Given the description of an element on the screen output the (x, y) to click on. 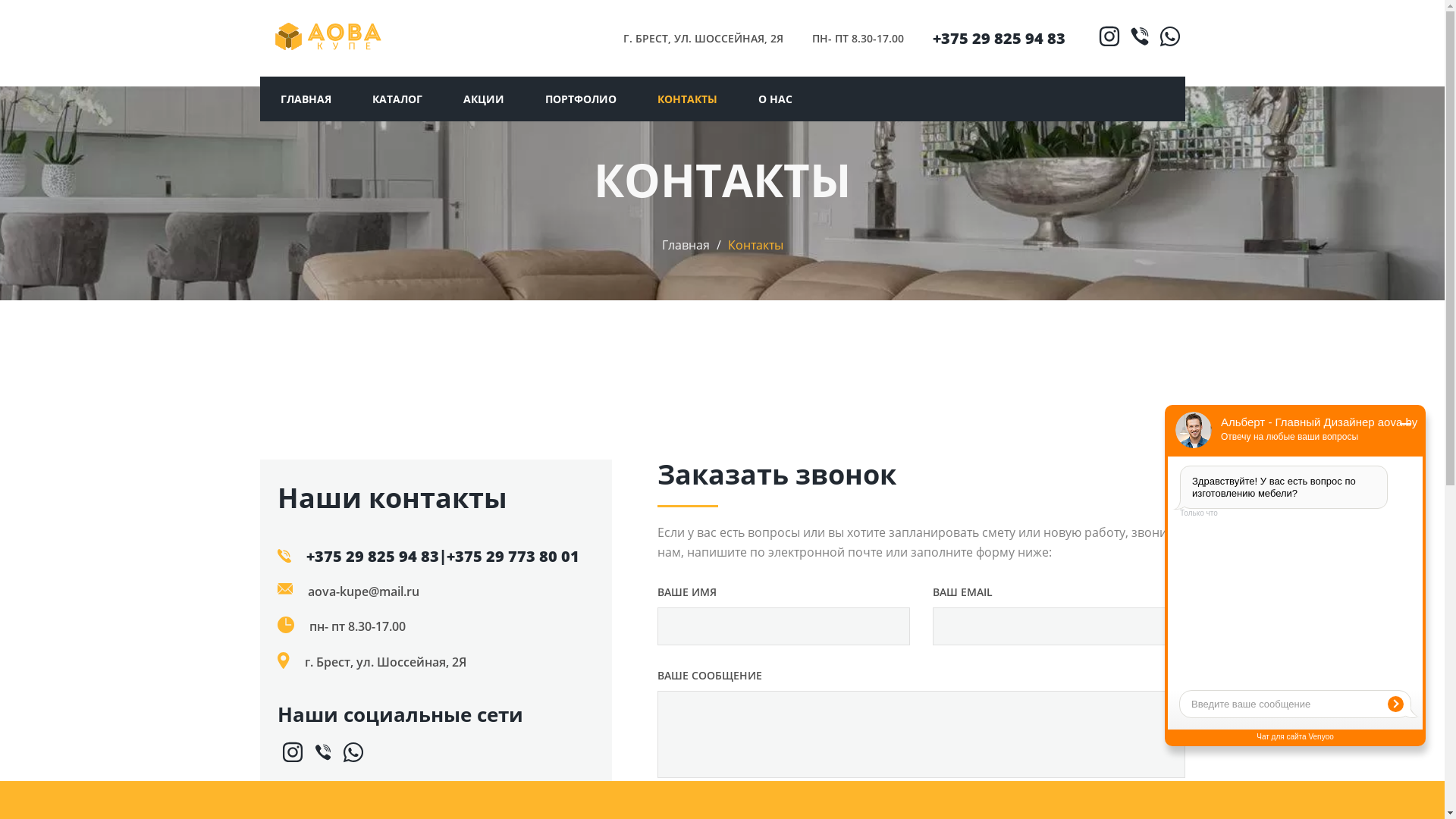
+375 29 773 80 01 Element type: text (511, 556)
+375 29 825 94 83 Element type: text (372, 556)
aova-kupe@mail.ru Element type: text (363, 591)
+375 29 825 94 83 Element type: text (998, 37)
